Given the description of an element on the screen output the (x, y) to click on. 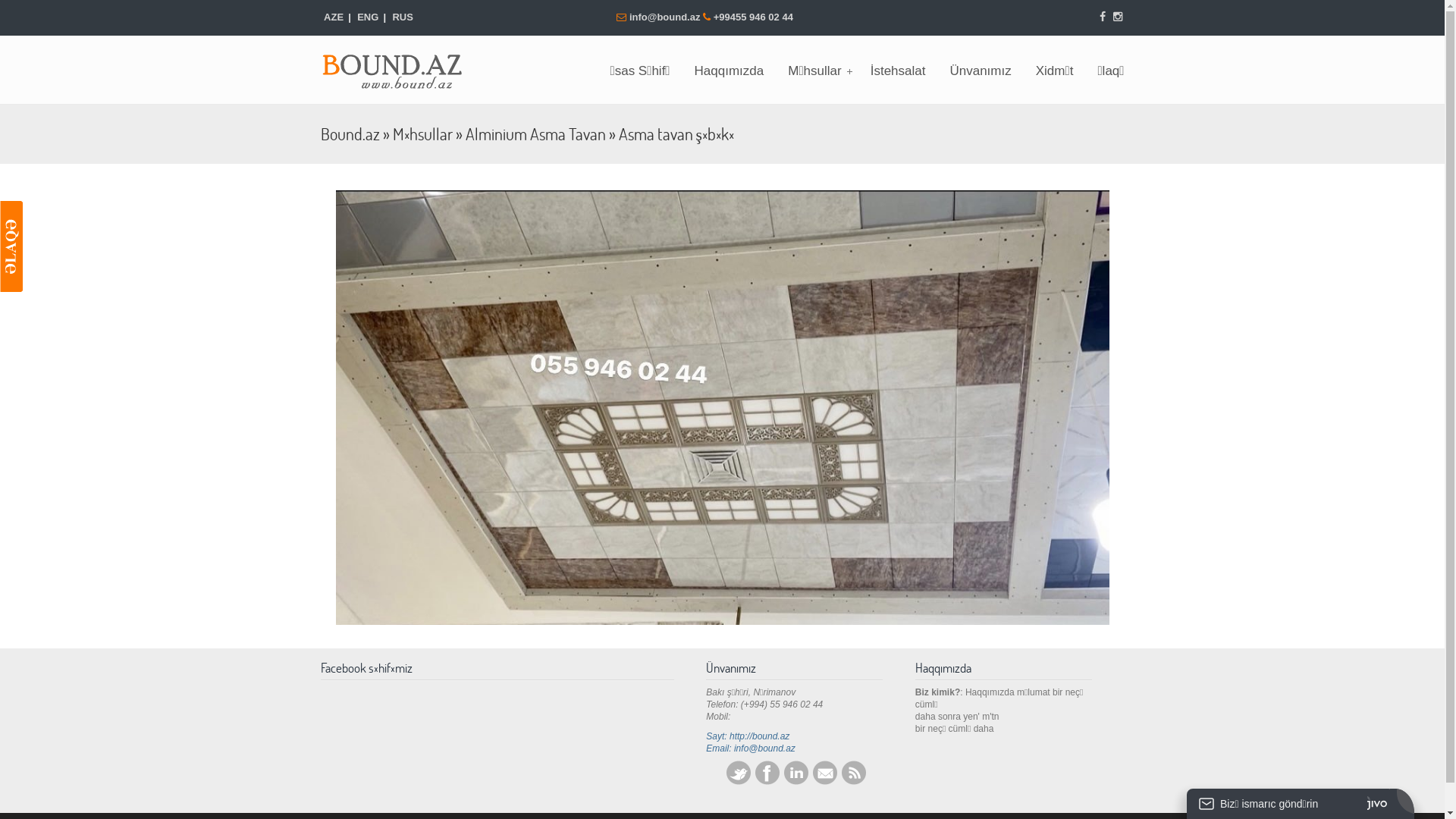
RSS Element type: hover (853, 781)
Facebook Element type: hover (767, 781)
Facebook Element type: hover (1102, 16)
+99455 946 02 44 Element type: text (753, 16)
Instagram Element type: hover (1117, 16)
E-mail Element type: hover (824, 781)
Bound.az Element type: text (399, 66)
Alminium Asma Tavan Element type: text (535, 133)
ENG Element type: text (367, 16)
Bound.az Element type: text (349, 133)
info@bound.az Element type: text (665, 16)
AZE Element type: text (333, 16)
Twitter Element type: hover (738, 781)
LinkedIn Element type: hover (796, 781)
RUS Element type: text (402, 16)
